Given the description of an element on the screen output the (x, y) to click on. 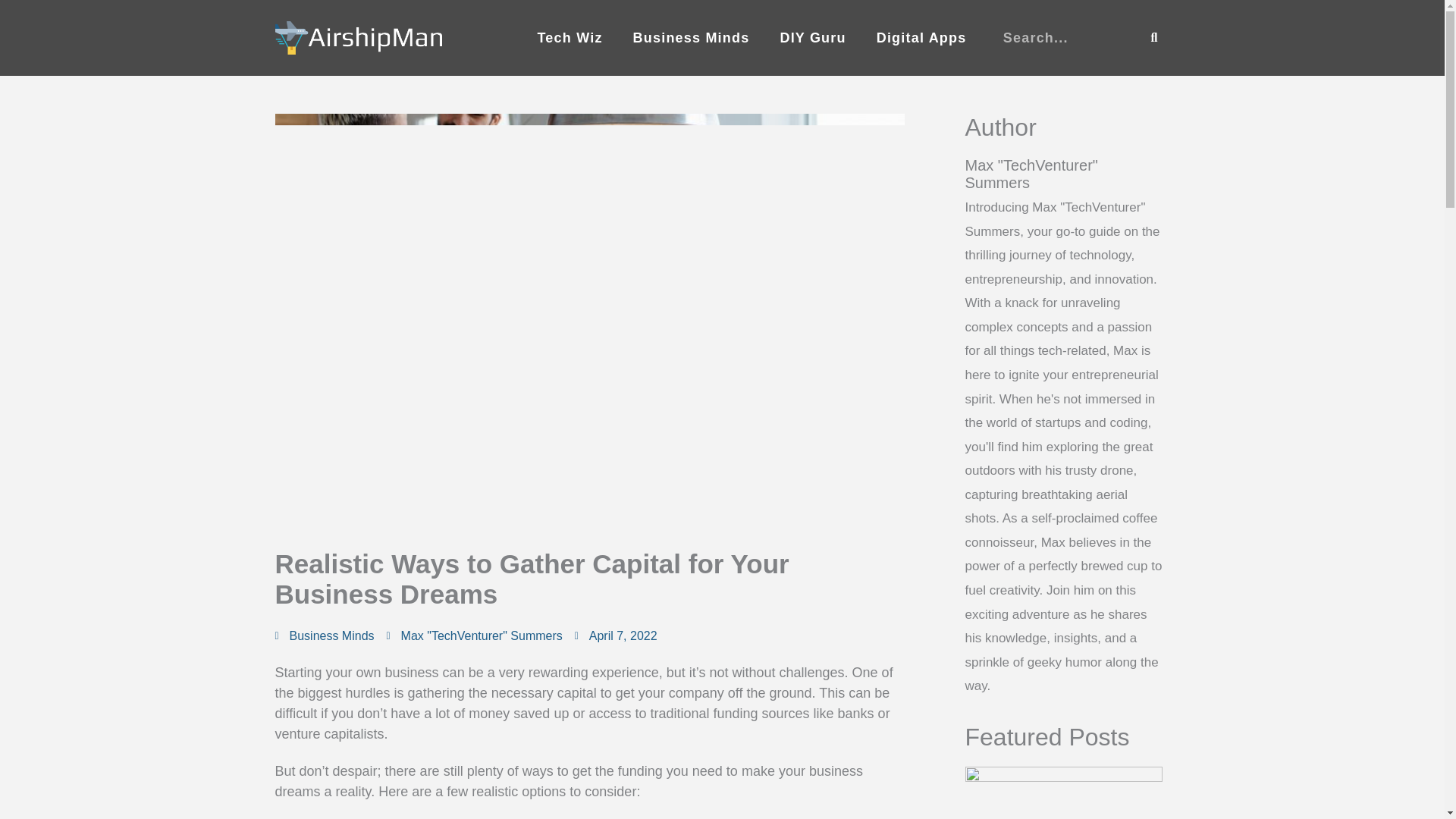
Digital Apps (921, 37)
Business Minds (691, 37)
April 7, 2022 (616, 635)
DIY Guru (812, 37)
Business Minds (331, 635)
Search (1153, 37)
Tech Wiz (569, 37)
